Given the description of an element on the screen output the (x, y) to click on. 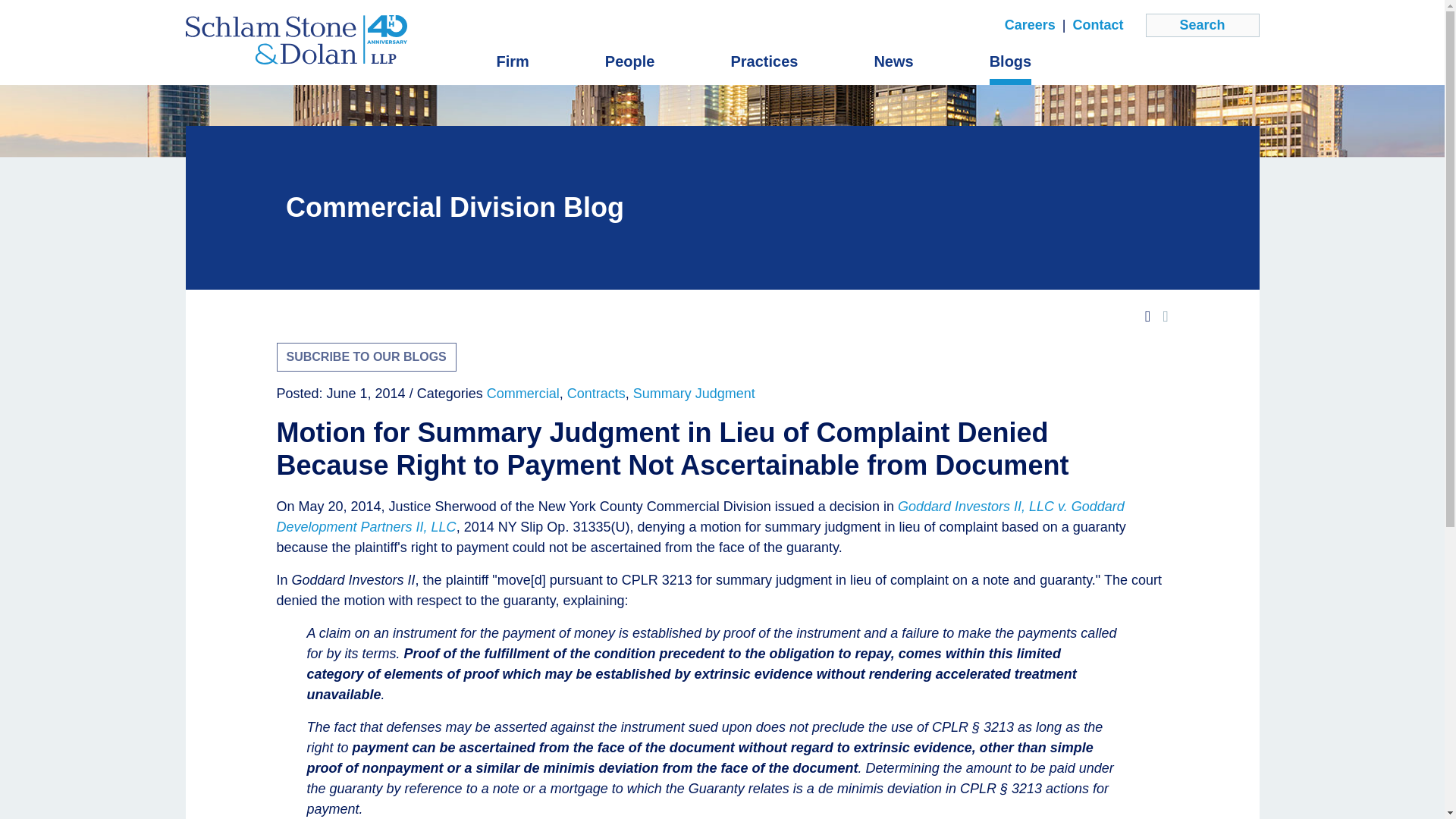
News (892, 60)
People (630, 60)
Contact (1096, 25)
Summary Judgment (694, 393)
Careers (1029, 25)
Blogs (1011, 60)
Practices (763, 60)
Commercial (522, 393)
Firm (512, 60)
